Given the description of an element on the screen output the (x, y) to click on. 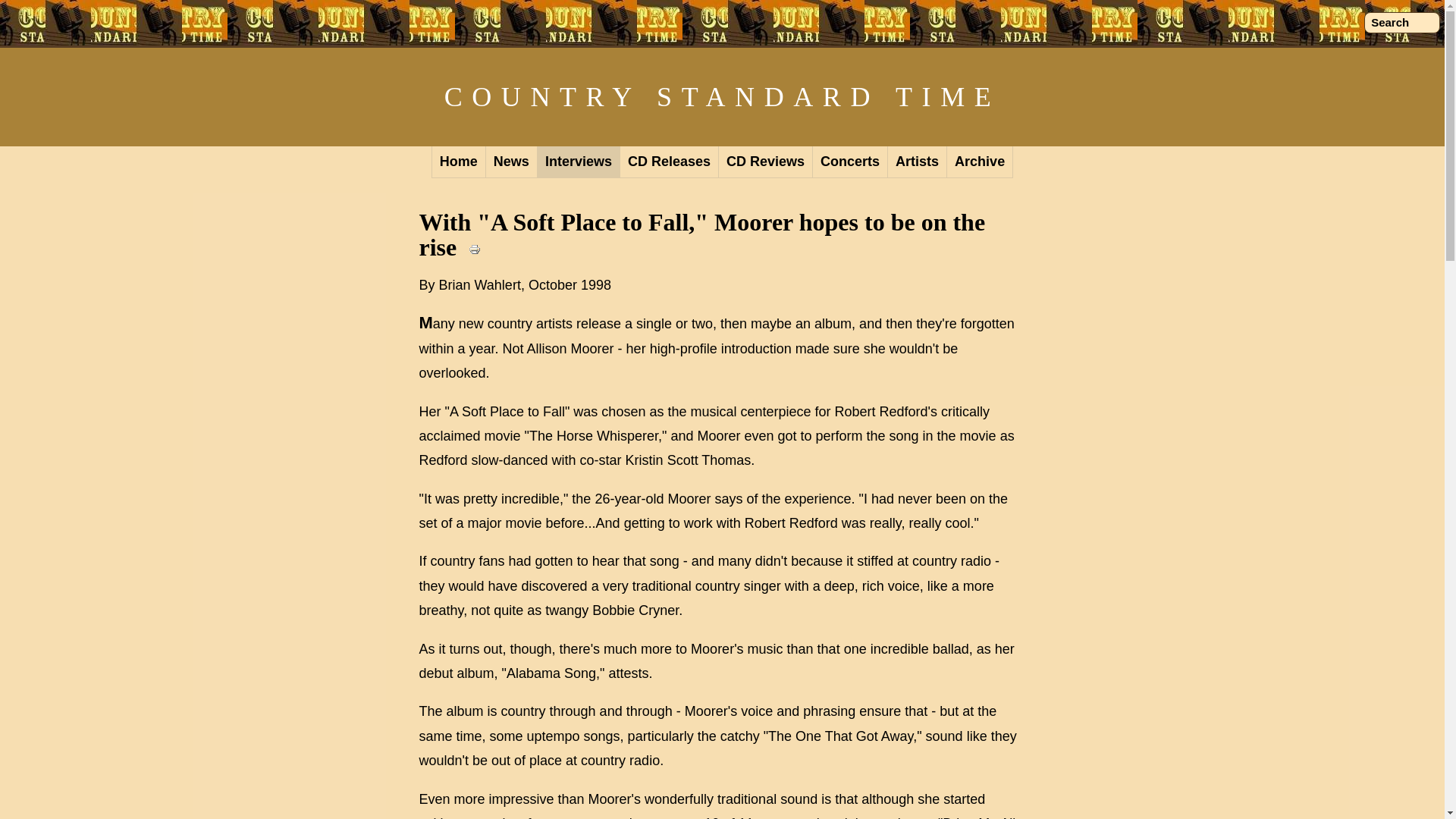
Archive (980, 162)
Concerts (850, 162)
News (511, 162)
CD Reviews (765, 162)
 Search (1401, 22)
COUNTRY STANDARD TIME (722, 96)
Artists (917, 162)
CD Releases (669, 162)
 Search (1401, 22)
Interviews (578, 162)
Home (458, 162)
